Given the description of an element on the screen output the (x, y) to click on. 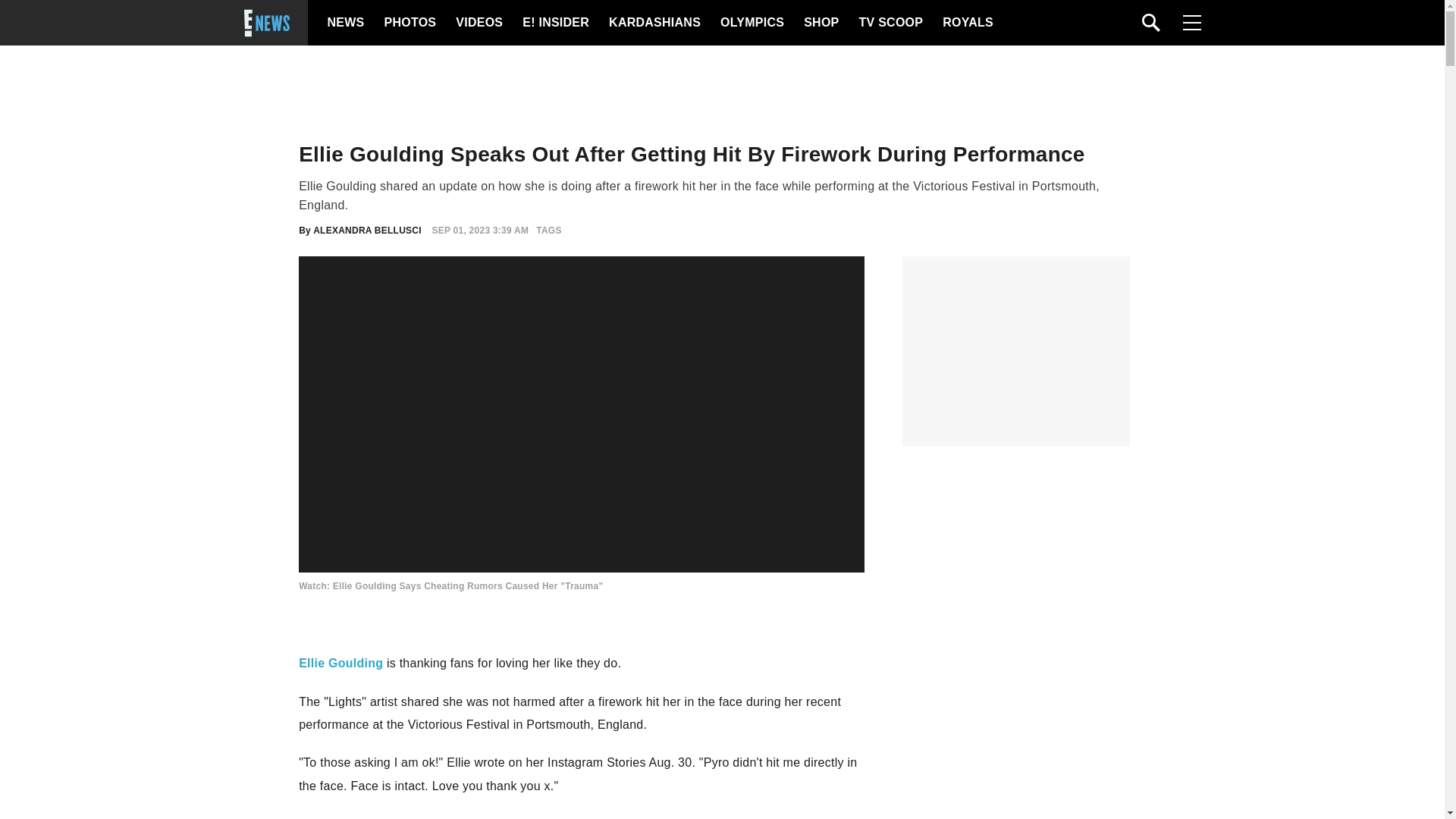
Ellie Goulding (340, 662)
posted to social media (413, 818)
ALEXANDRA BELLUSCI (367, 230)
VIDEOS (478, 22)
TV SCOOP (890, 22)
PHOTOS (408, 22)
KARDASHIANS (653, 22)
NEWS (345, 22)
OLYMPICS (751, 22)
SHOP (820, 22)
